Given the description of an element on the screen output the (x, y) to click on. 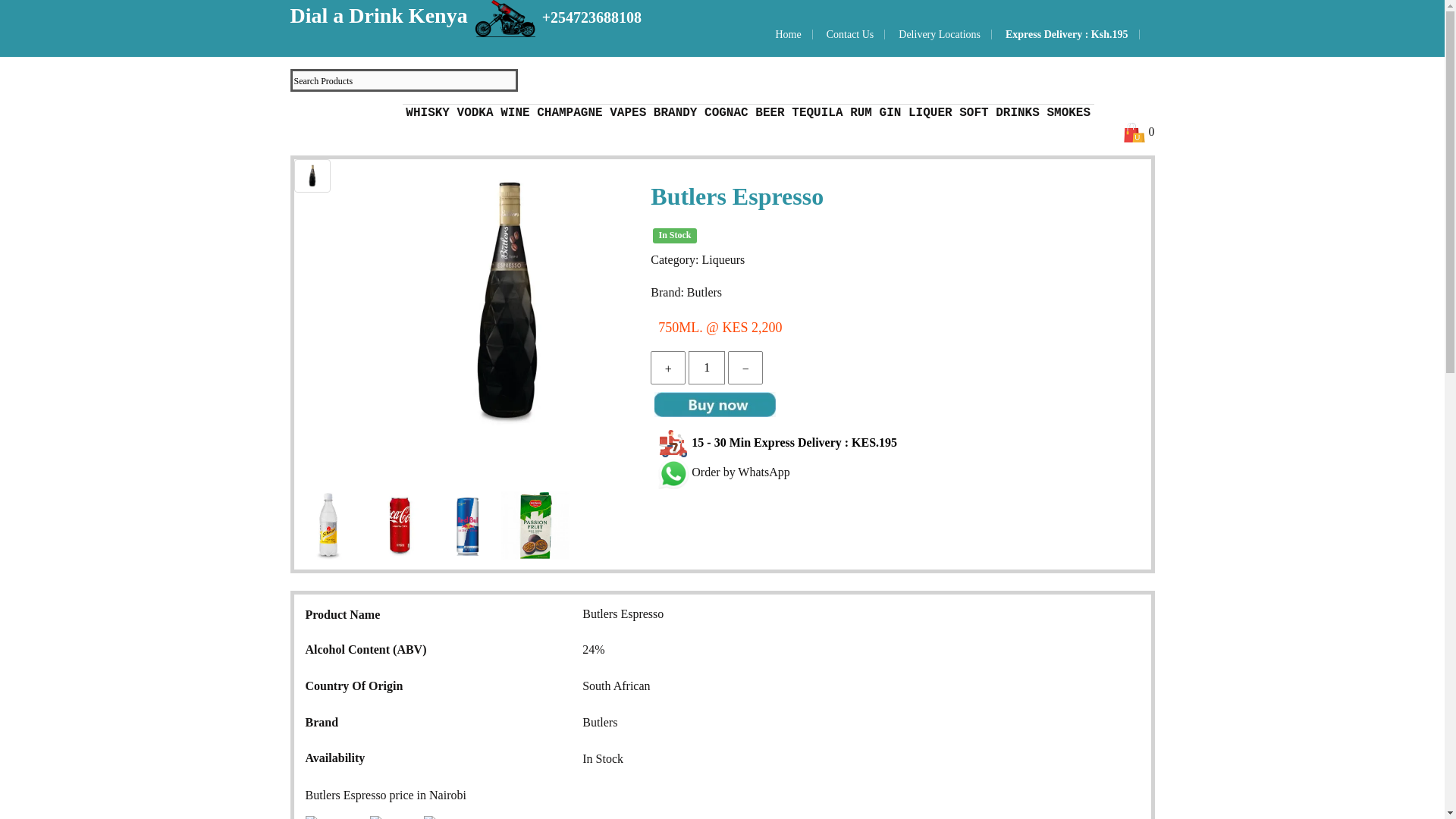
1 (706, 367)
Alcohol delivery - Liqueurs (320, 125)
Shopping Cart (1133, 132)
0 (1149, 130)
WhatsApp (723, 472)
Home (787, 34)
VODKA (478, 112)
Delivery Locations (938, 34)
Contact Us (851, 34)
WHISKY (427, 113)
Express Delivery : Ksh.195 (1067, 34)
Dial a Drink Kenya (380, 15)
WINE (514, 113)
